Given the description of an element on the screen output the (x, y) to click on. 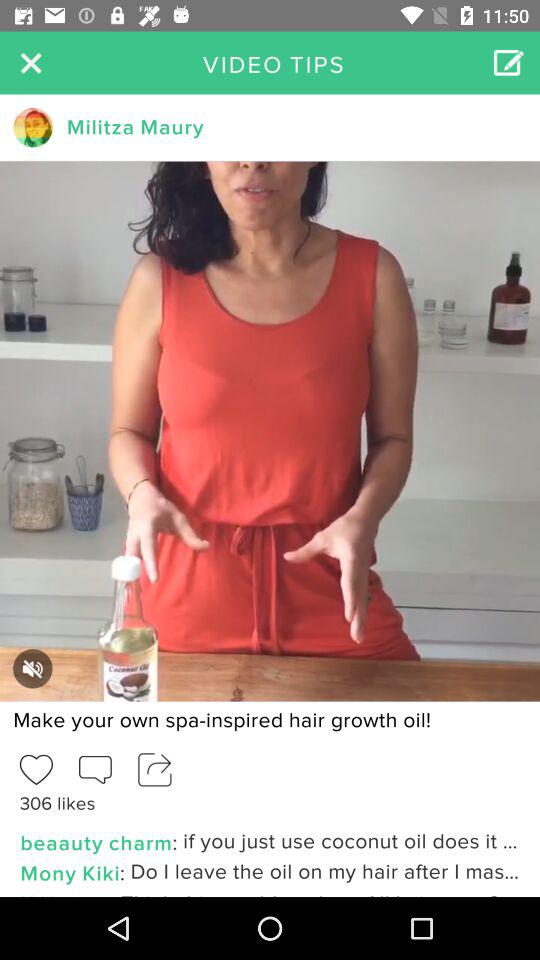
the green colored text written as militza maury (134, 127)
